Given the description of an element on the screen output the (x, y) to click on. 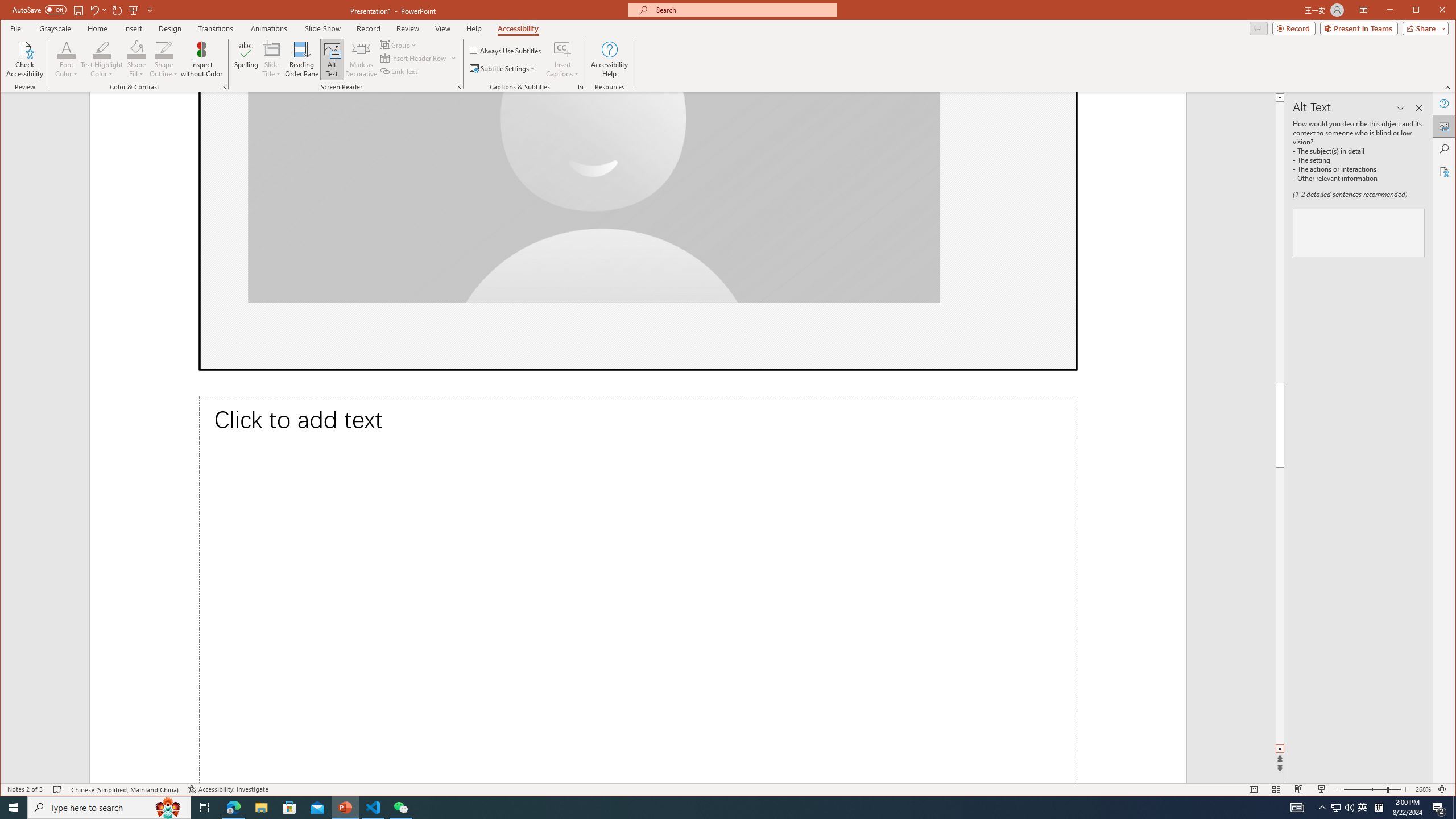
Accessibility Help (608, 59)
Link Text (399, 70)
Screen Reader (458, 86)
Captions & Subtitles (580, 86)
